Given the description of an element on the screen output the (x, y) to click on. 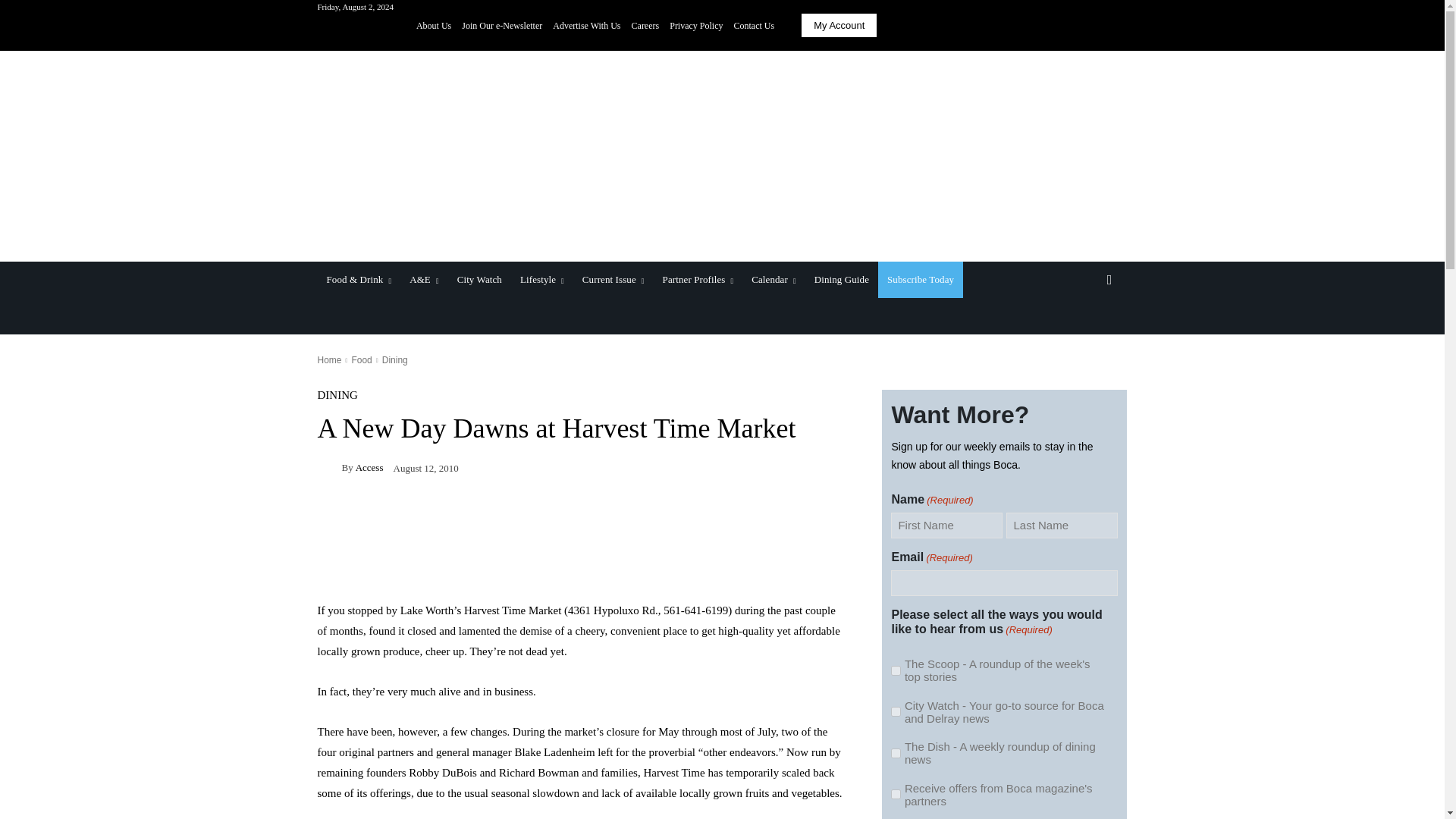
Twitter (1115, 25)
City Watch - Your go-to source for Boca and Delray news (896, 711)
Instagram (1073, 25)
The Scoop - A roundup of the week's top stories (896, 670)
Facebook (1052, 25)
Pinterest (1094, 25)
Receive offers from Boca magazine's partners (896, 794)
The Dish - A weekly roundup of dining news (896, 753)
My Account (839, 24)
